Given the description of an element on the screen output the (x, y) to click on. 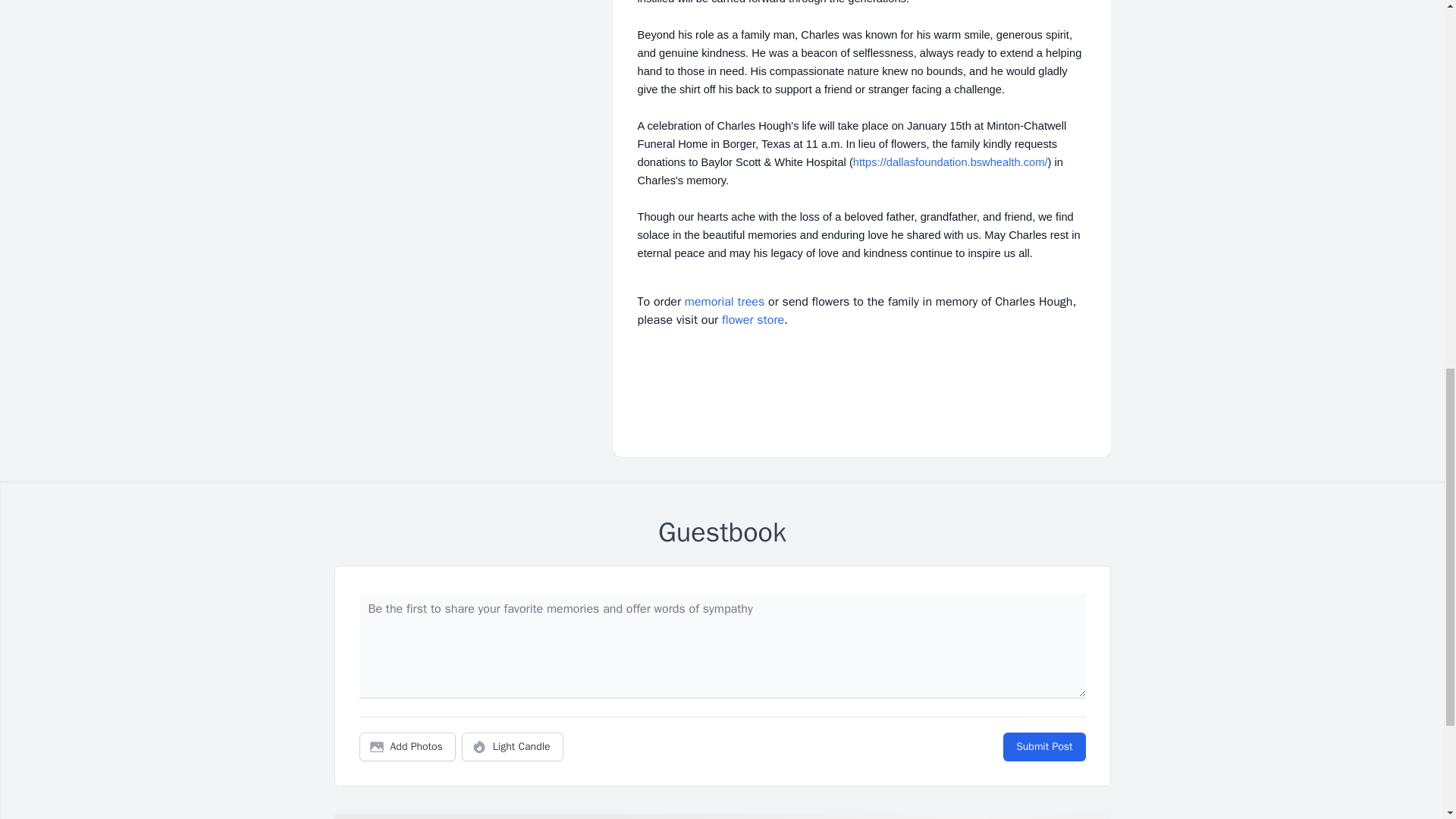
Submit Post (1043, 746)
memorial trees (724, 301)
Add Photos (407, 746)
flower store (753, 319)
Light Candle (512, 746)
